Given the description of an element on the screen output the (x, y) to click on. 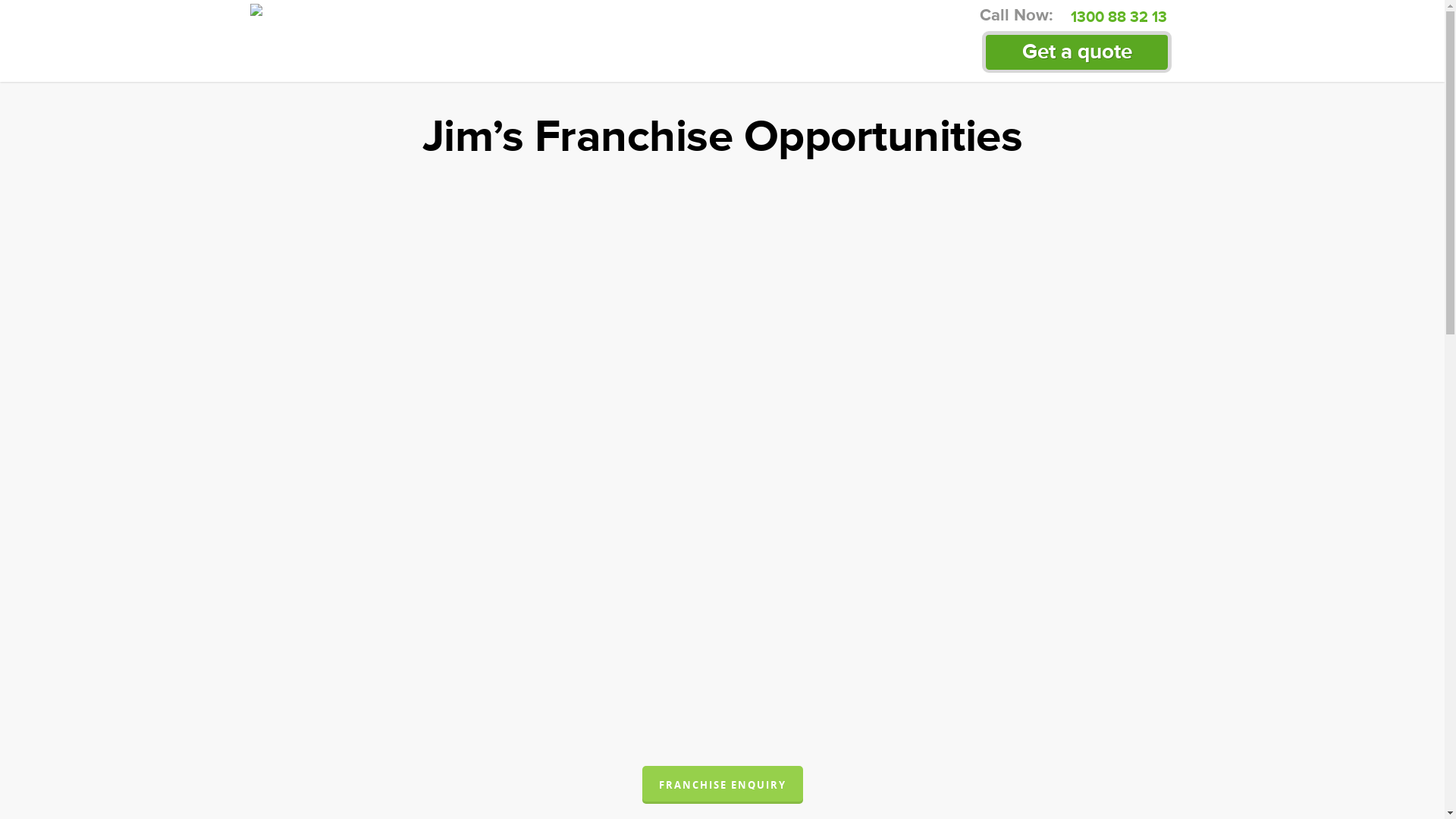
Get a quote Element type: text (1077, 51)
FRANCHISE ENQUIRY Element type: text (721, 784)
Get a quote Element type: text (1076, 51)
1300 88 32 13 Element type: text (1117, 21)
